Given the description of an element on the screen output the (x, y) to click on. 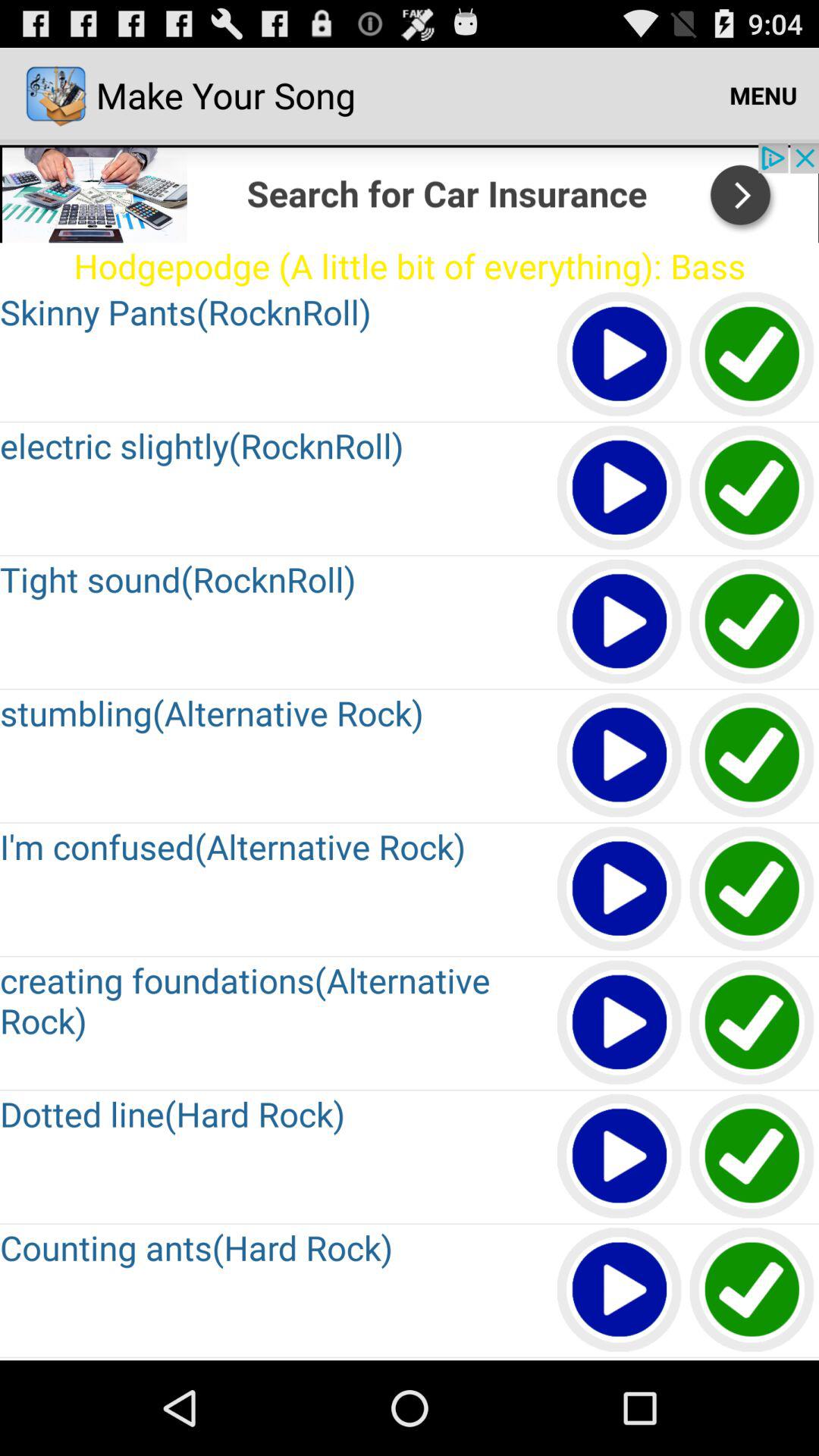
play clip (619, 354)
